Given the description of an element on the screen output the (x, y) to click on. 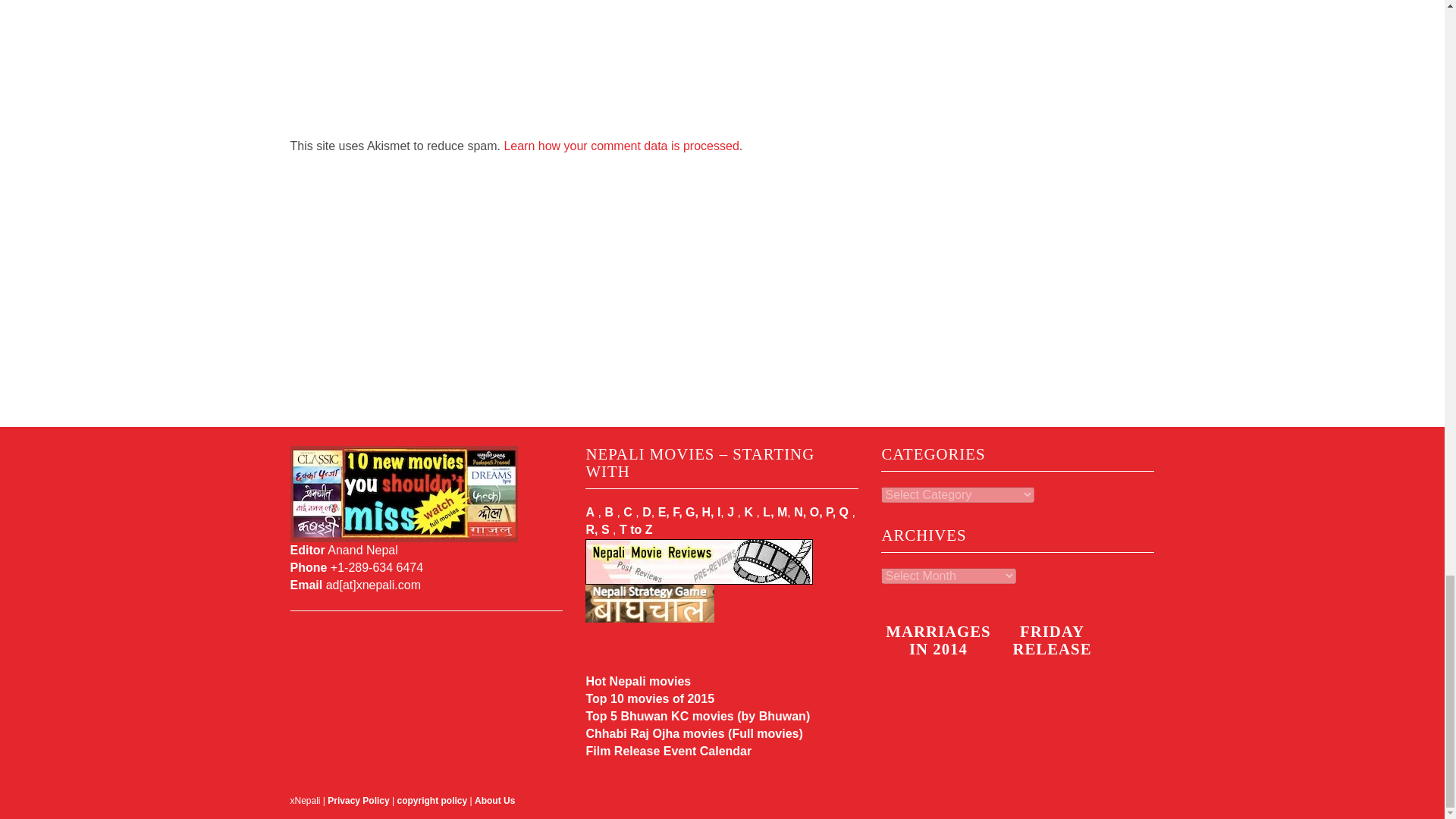
Comment Form (536, 69)
friday release (1051, 702)
